Given the description of an element on the screen output the (x, y) to click on. 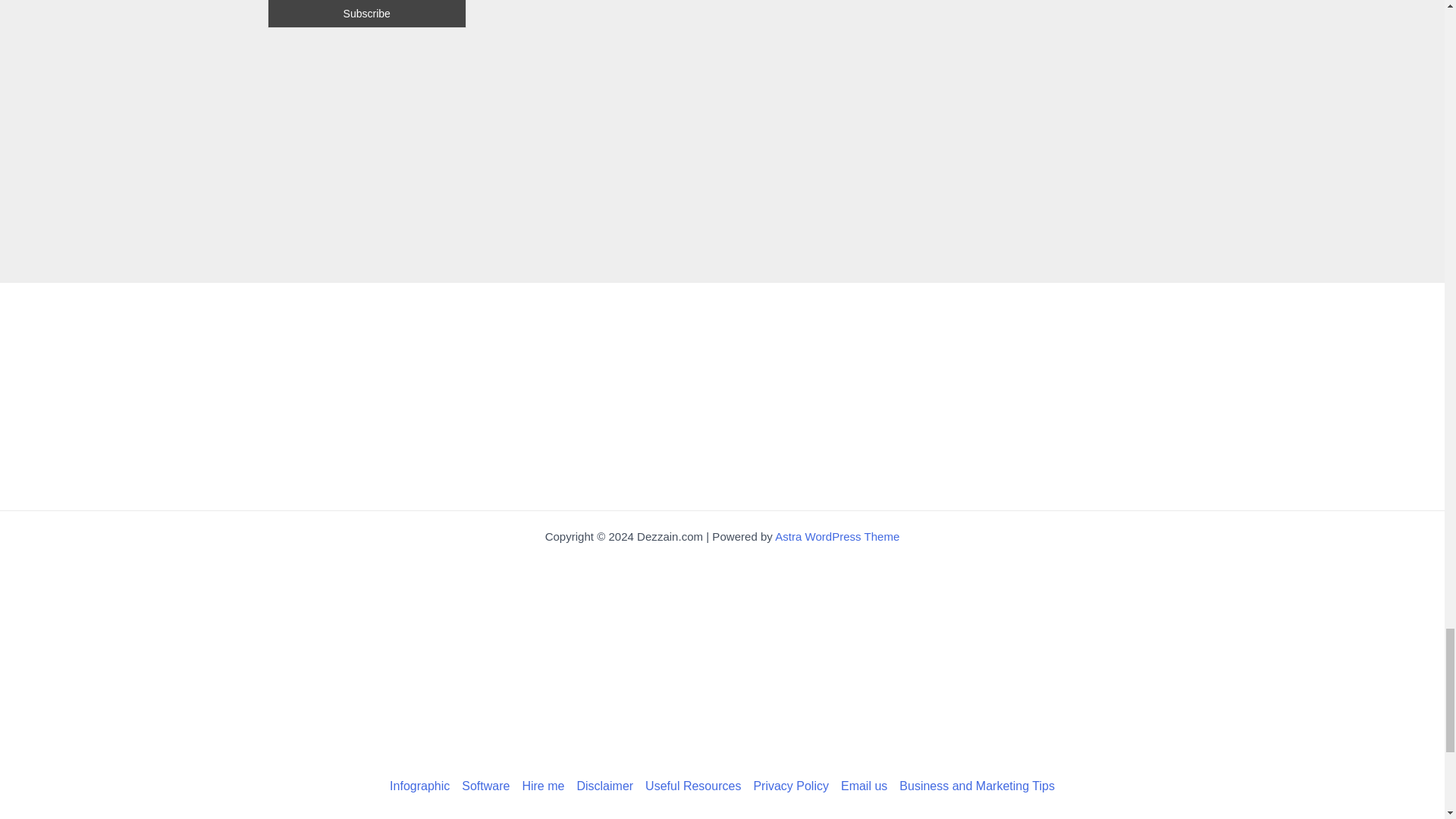
Subscribe (365, 13)
